Given the description of an element on the screen output the (x, y) to click on. 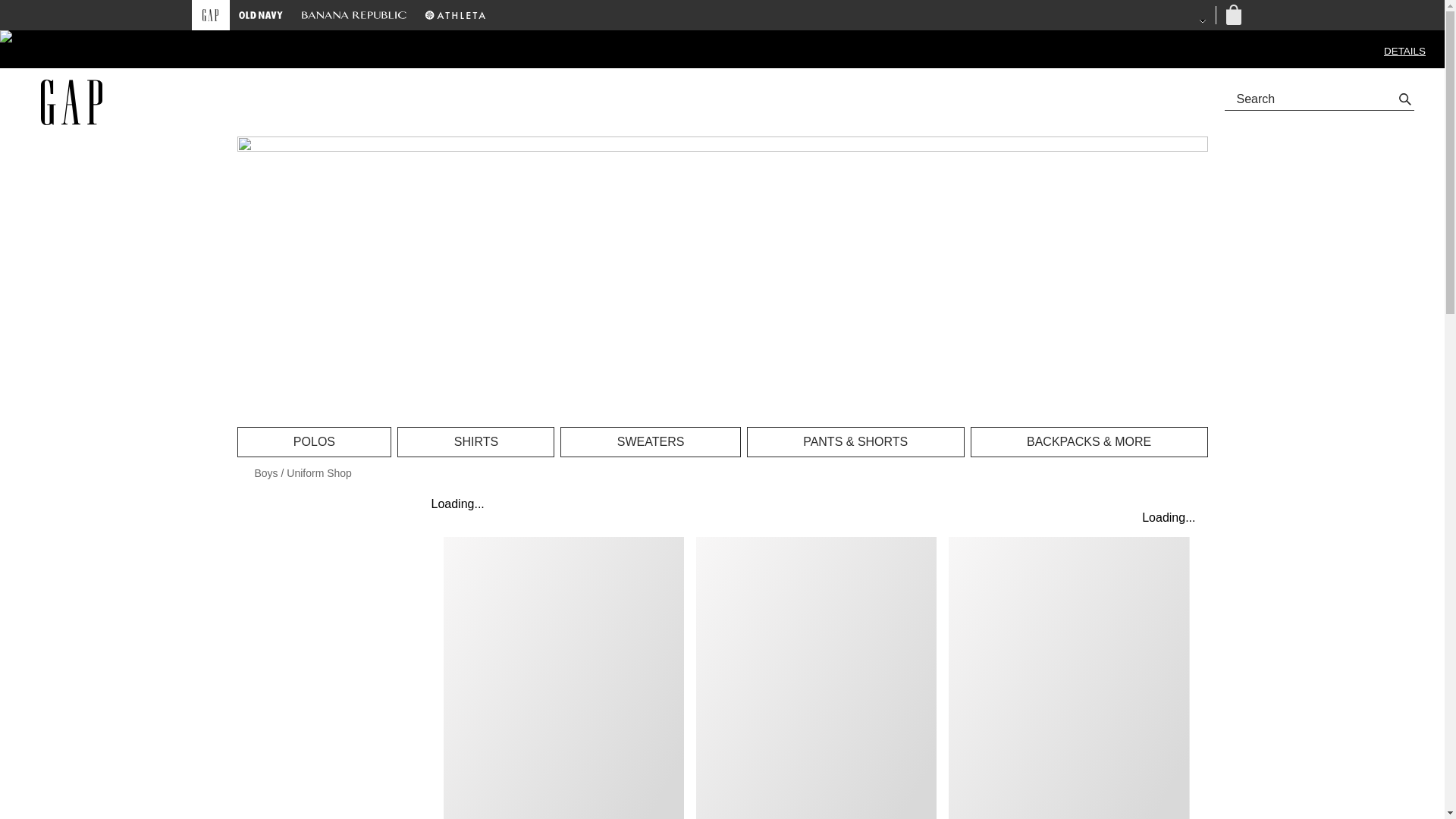
DETAILS (1404, 51)
SHIRTS (475, 441)
Boys (266, 472)
POLOS (313, 441)
SWEATERS (649, 441)
Bag (1232, 15)
